Given the description of an element on the screen output the (x, y) to click on. 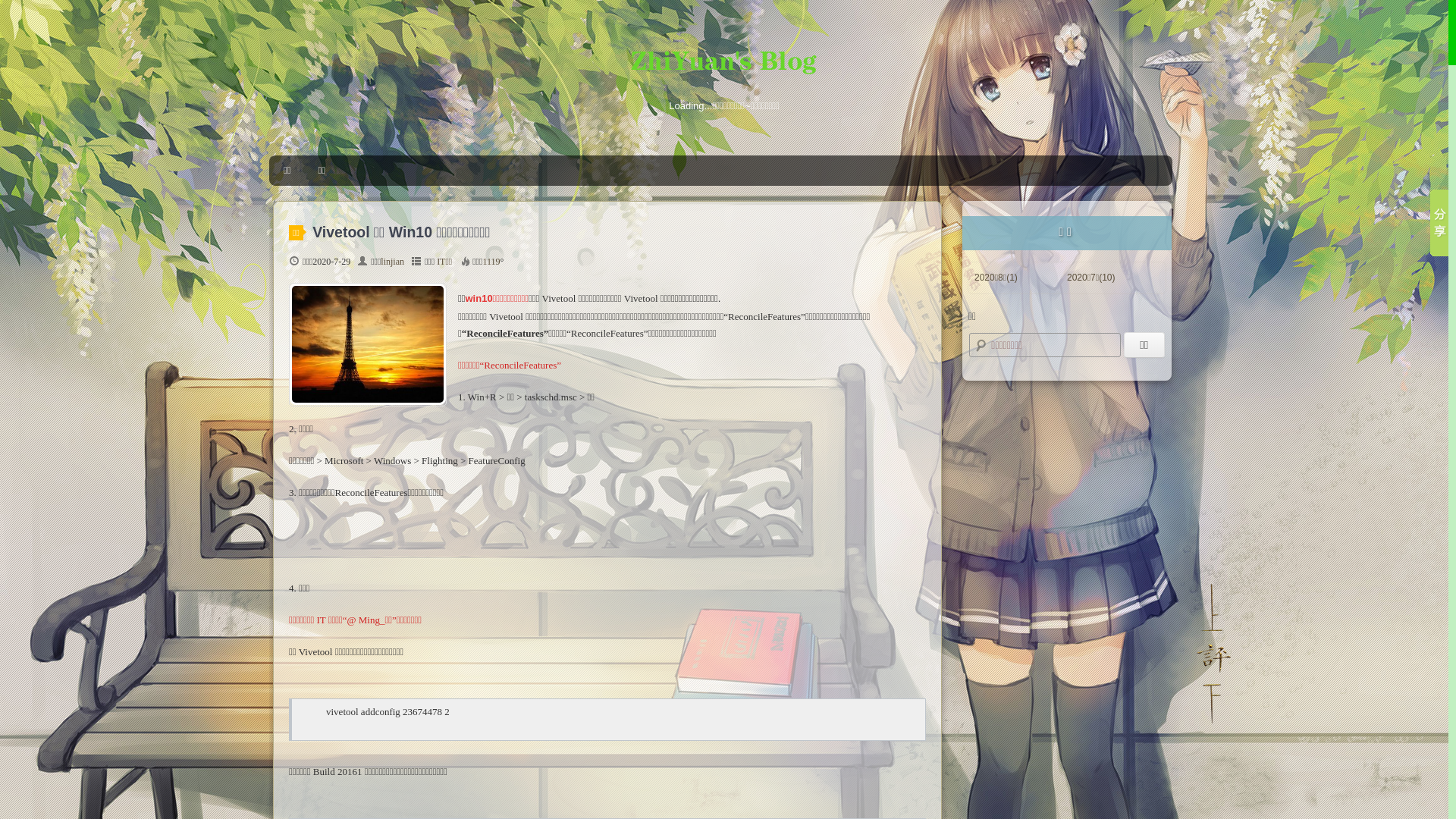
linjian Element type: text (392, 261)
1119 Element type: text (490, 261)
